Given the description of an element on the screen output the (x, y) to click on. 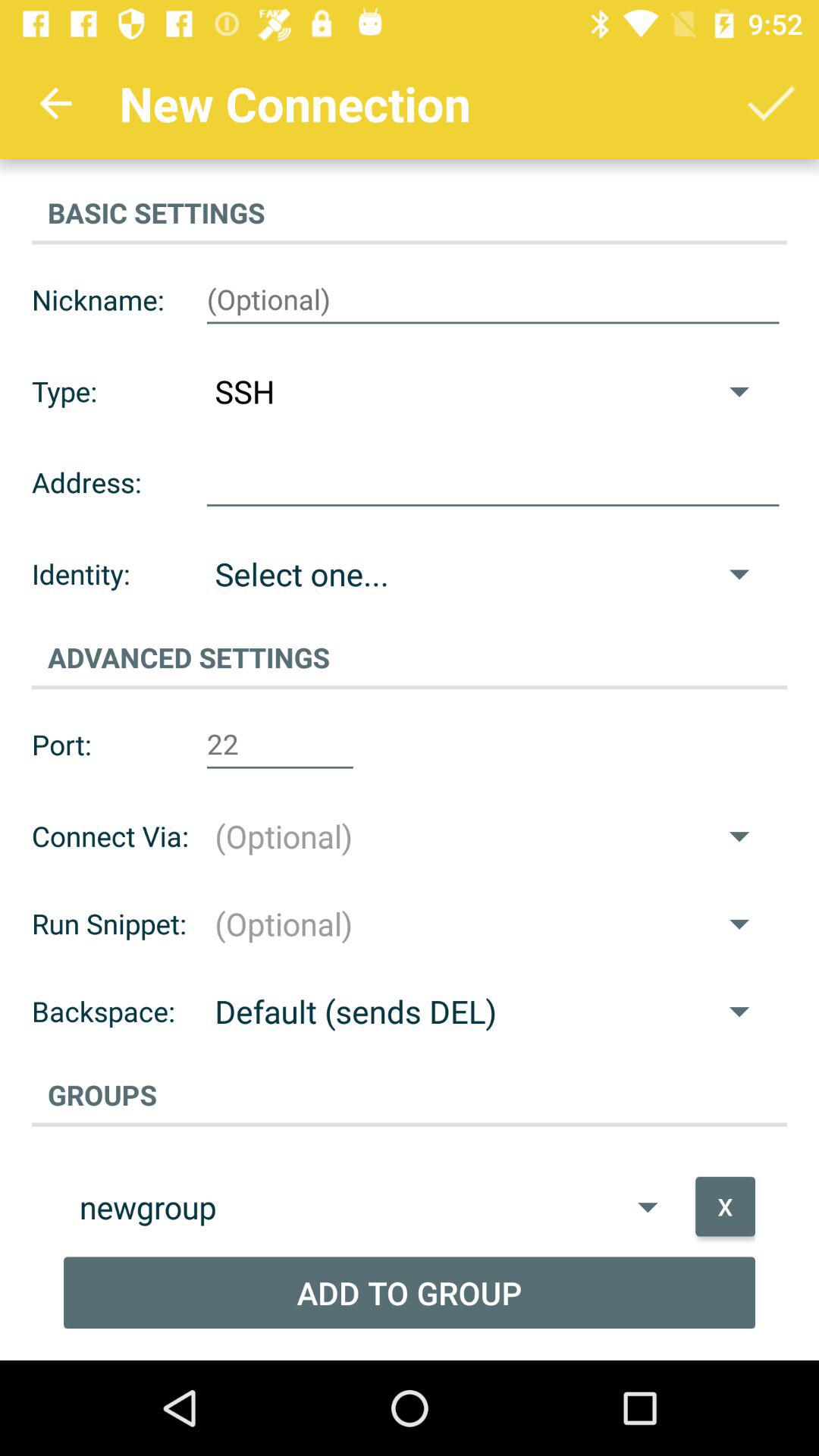
enter my nickname (493, 299)
